Given the description of an element on the screen output the (x, y) to click on. 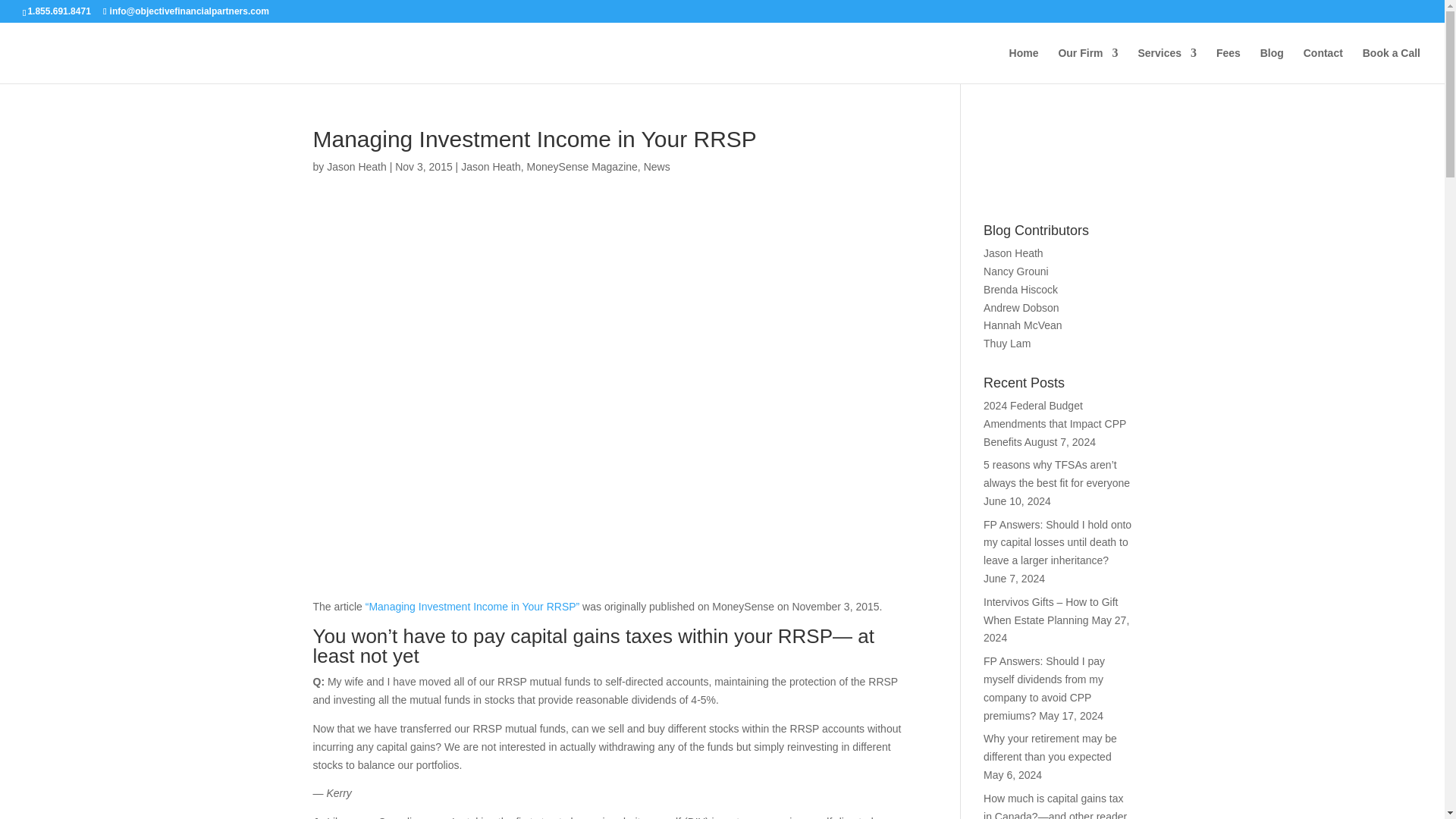
Our Firm (1088, 65)
Andrew Dobson (1021, 307)
2024 Federal Budget Amendments that Impact CPP Benefits (1054, 423)
Book a Call (1391, 65)
News (656, 166)
Posts by Jason Heath (356, 166)
Hannah McVean (1023, 325)
Services (1166, 65)
MoneySense Magazine (582, 166)
Nancy Grouni (1016, 271)
